Given the description of an element on the screen output the (x, y) to click on. 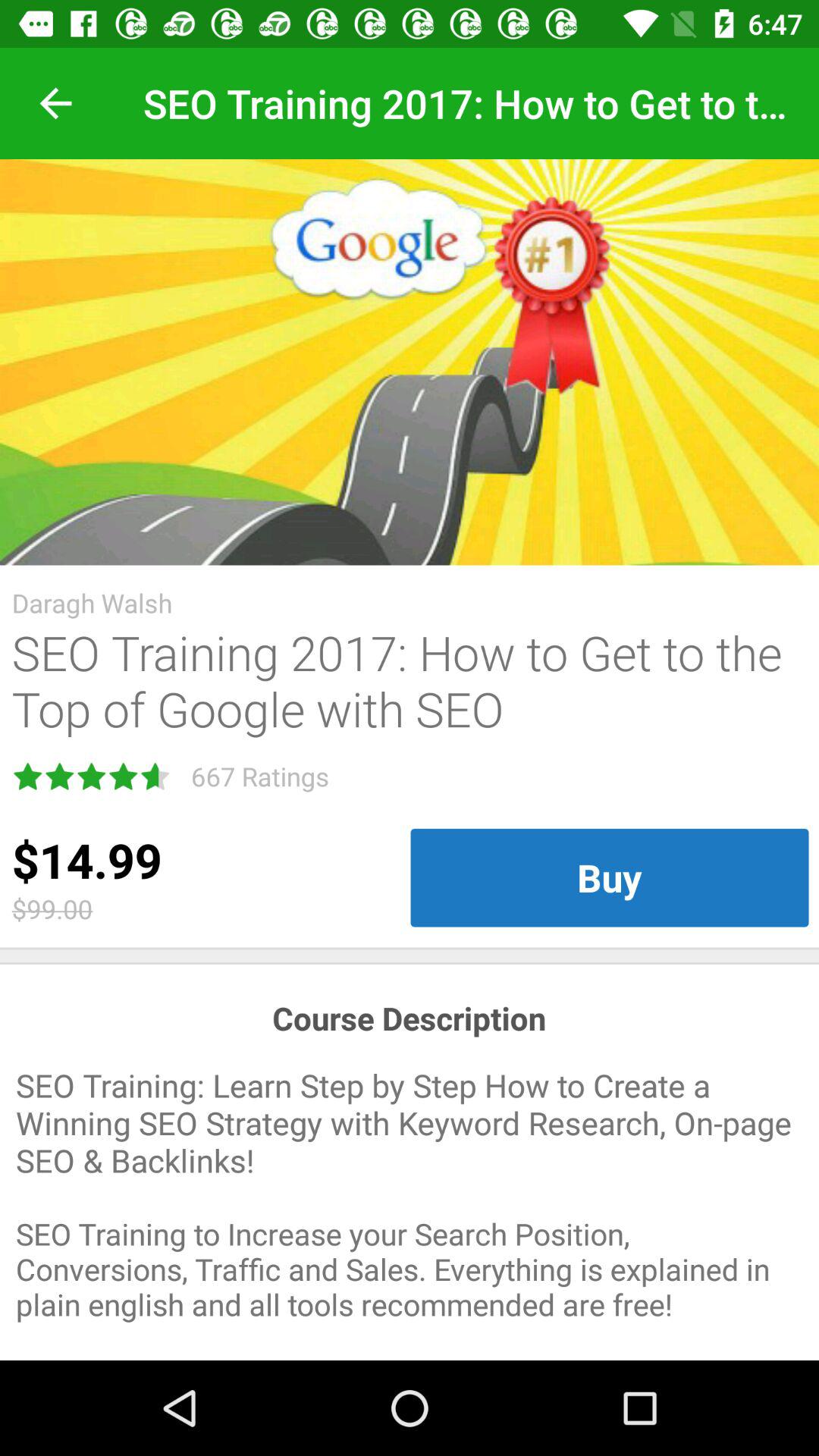
tap icon next to seo training 2017 (55, 103)
